Given the description of an element on the screen output the (x, y) to click on. 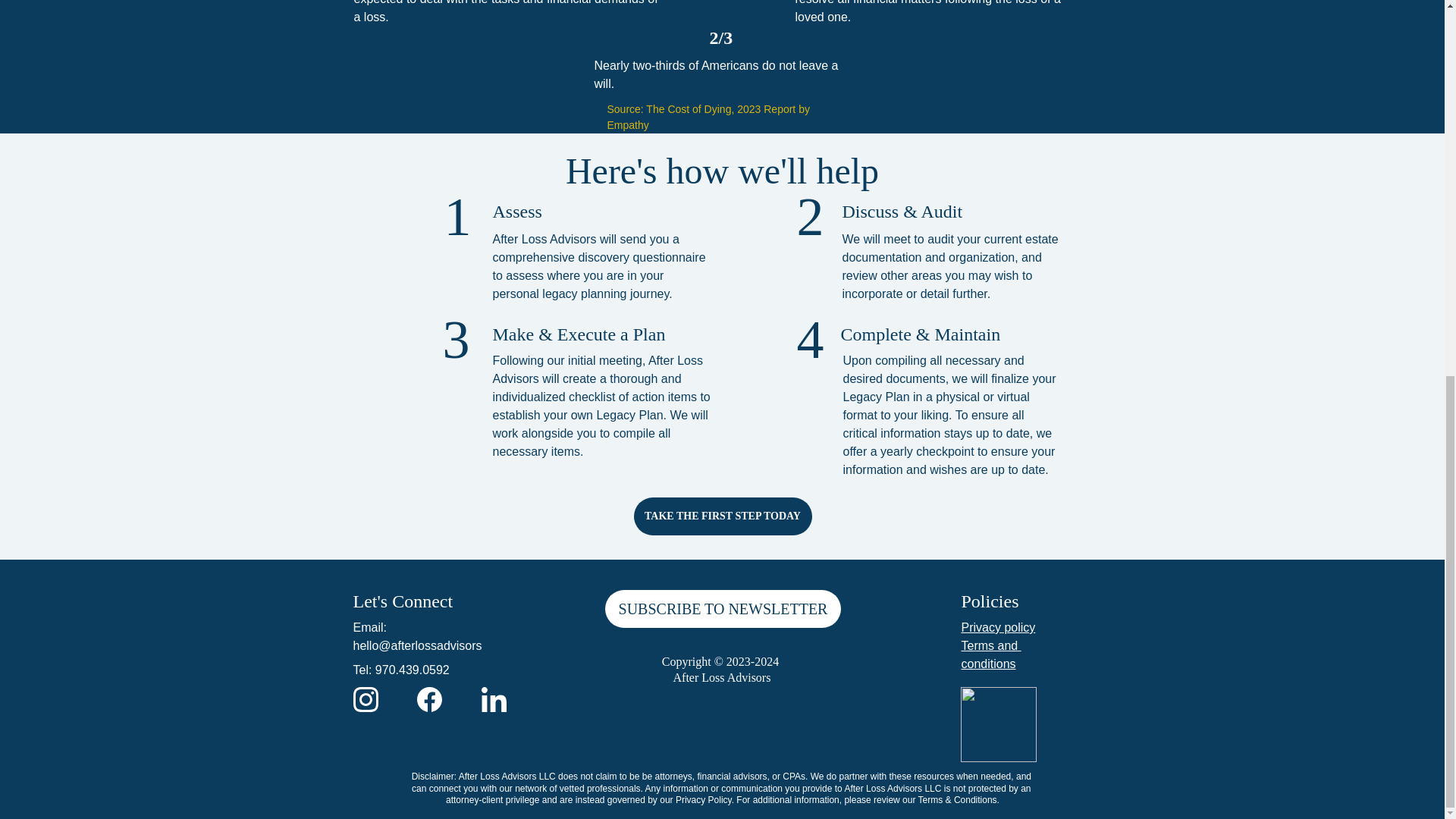
Privacy policy (997, 626)
Go to Instagram page (365, 699)
Go to Linkedin-in page (492, 699)
SUBSCRIBE TO NEWSLETTER (723, 608)
Terms and conditions (990, 654)
Go to Facebook page (429, 699)
TAKE THE FIRST STEP TODAY (722, 516)
